Given the description of an element on the screen output the (x, y) to click on. 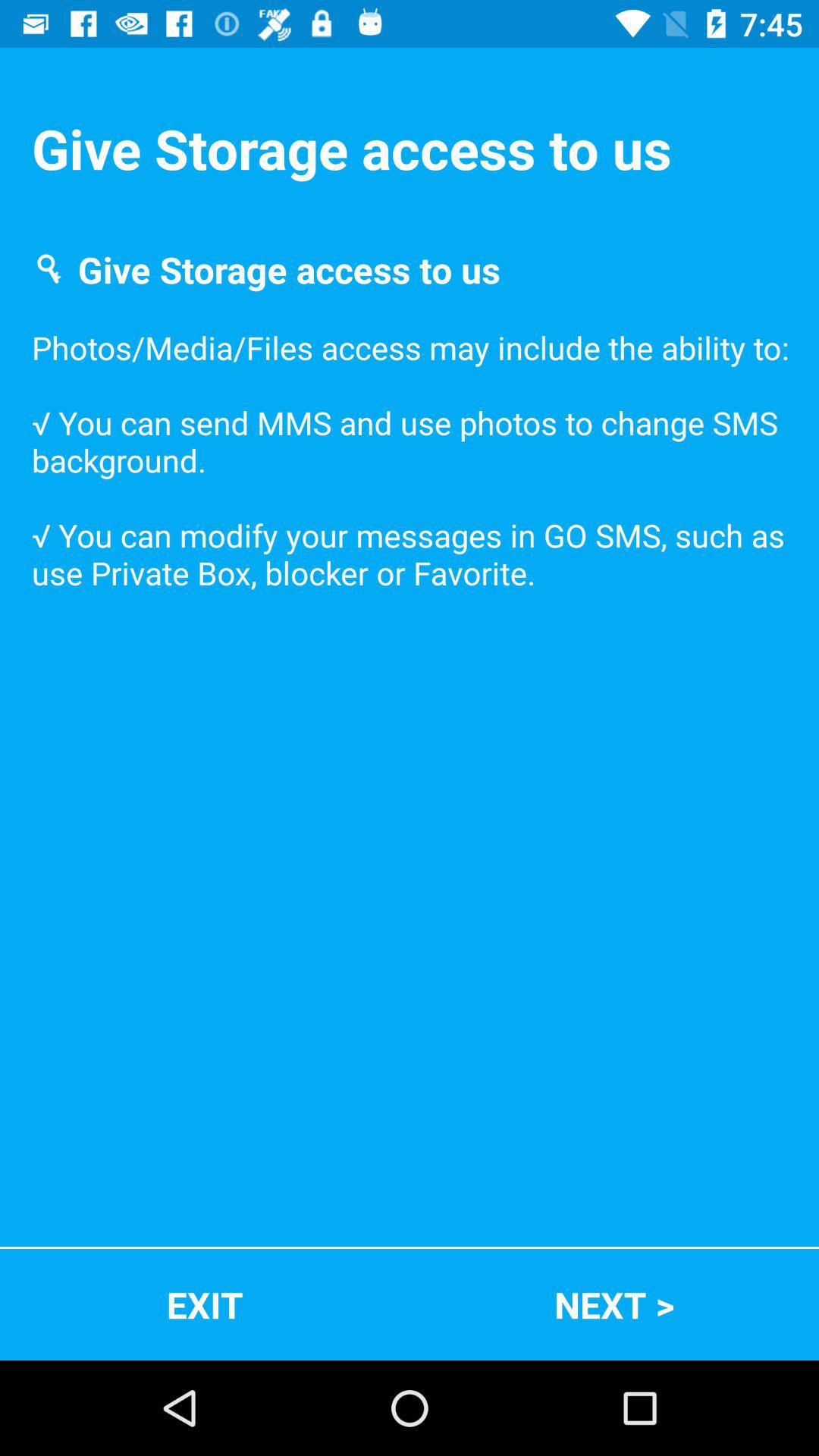
turn on the item to the right of the exit item (614, 1304)
